Given the description of an element on the screen output the (x, y) to click on. 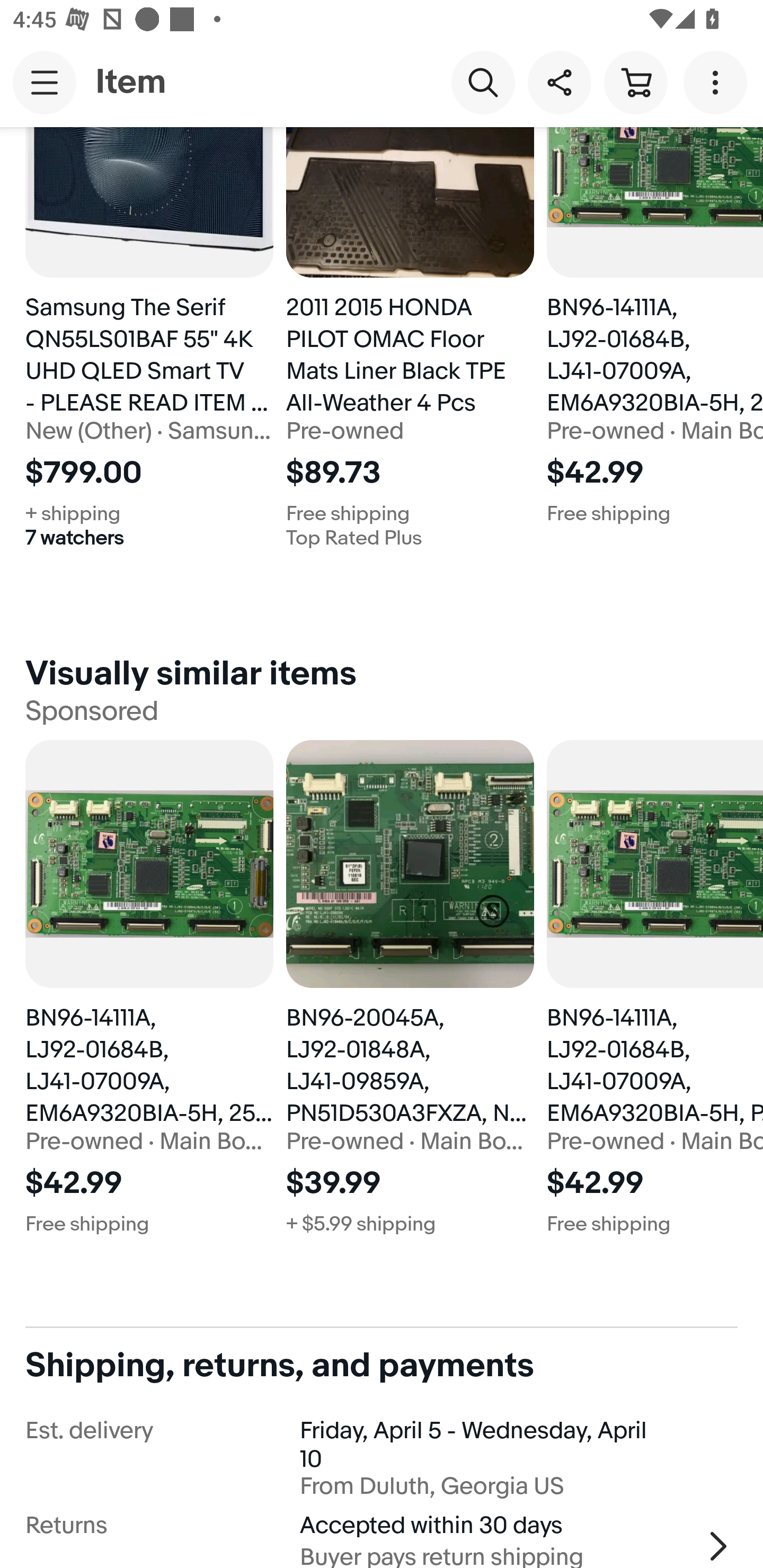
Main navigation, open (44, 82)
Search (482, 81)
Share this item (559, 81)
Cart button shopping cart (635, 81)
More options (718, 81)
